Given the description of an element on the screen output the (x, y) to click on. 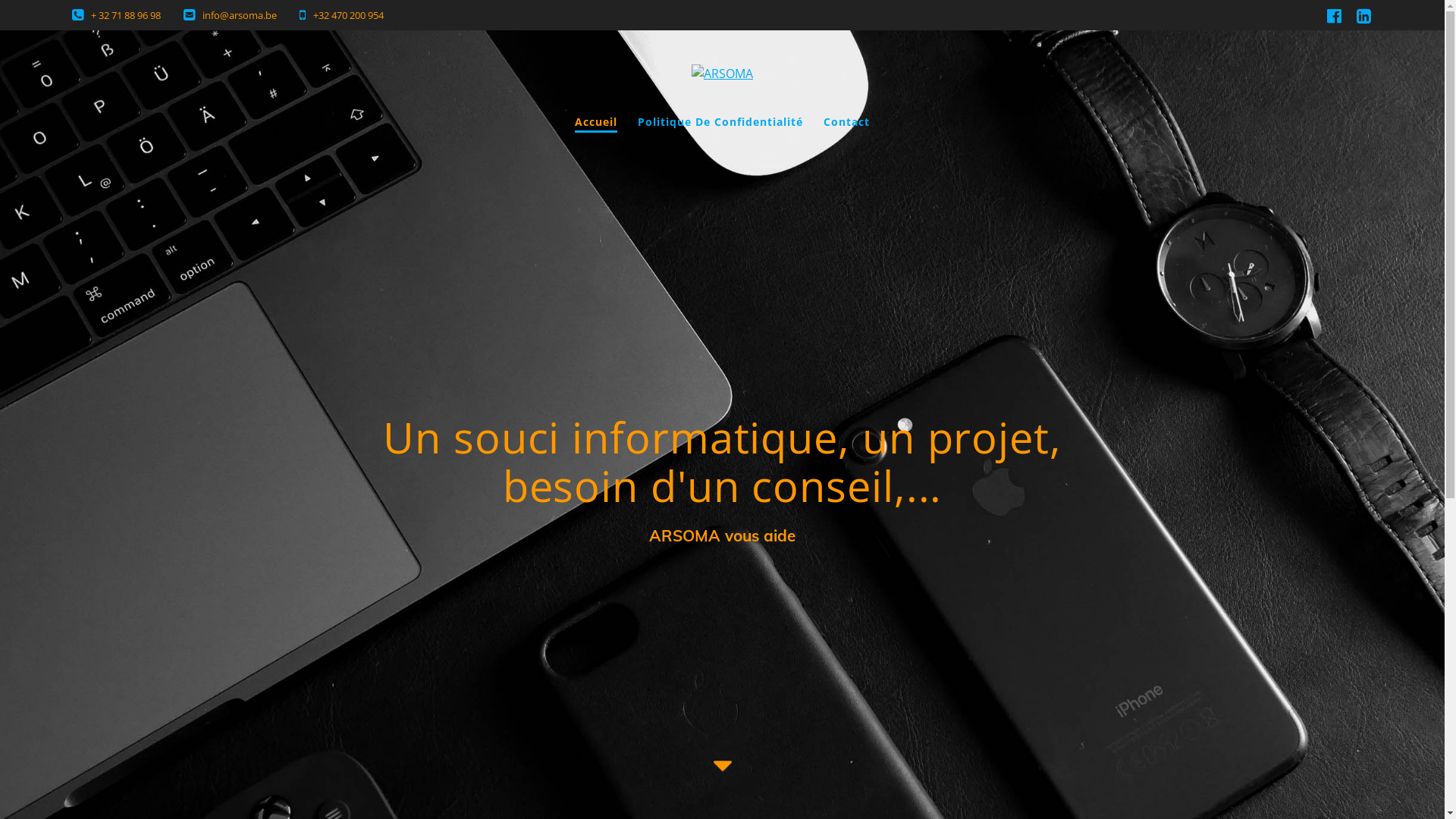
Skip to content Element type: text (0, 0)
Contact Element type: text (846, 122)
Accueil Element type: text (595, 122)
